Given the description of an element on the screen output the (x, y) to click on. 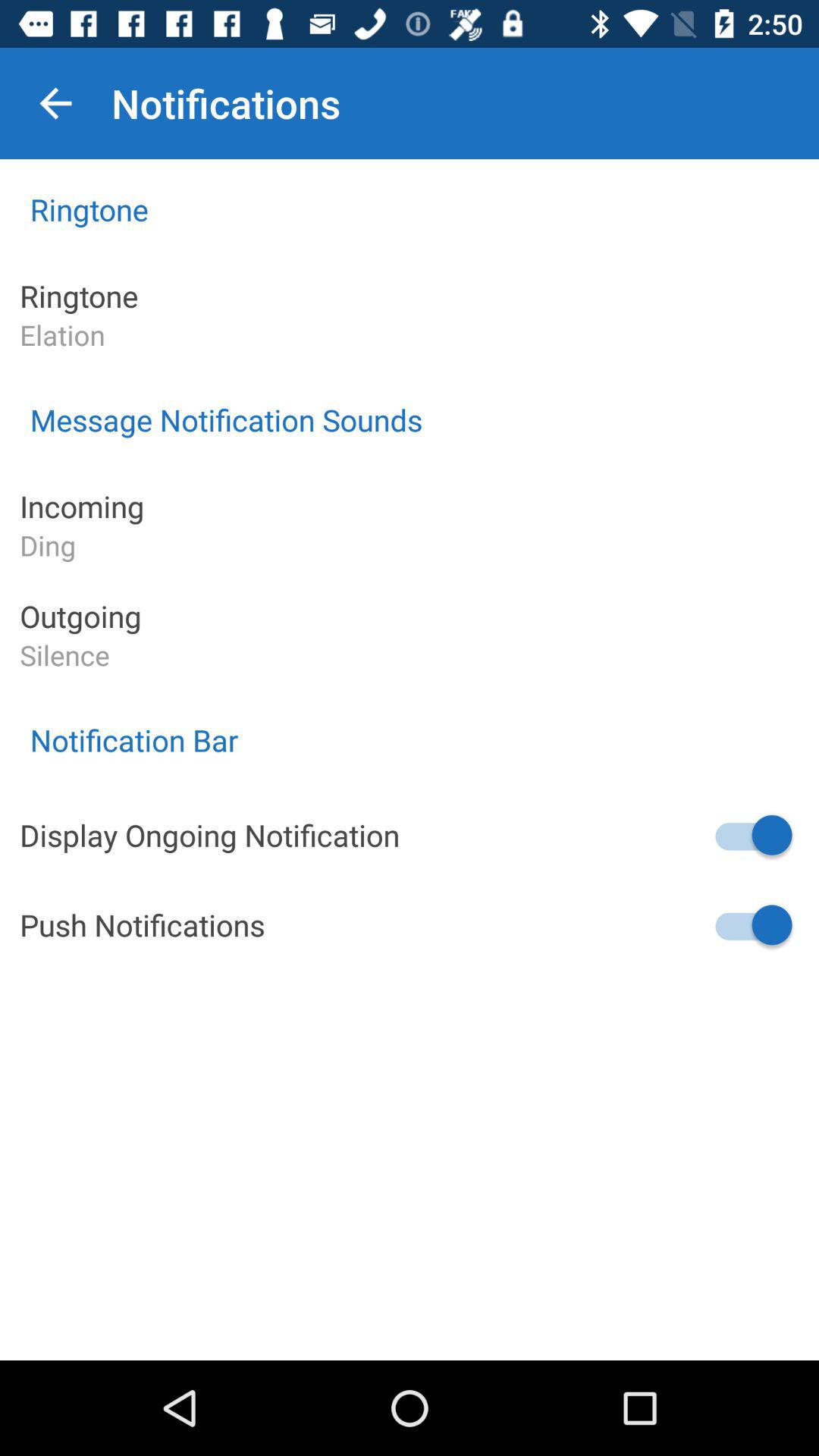
toggle push notifications option (751, 925)
